Given the description of an element on the screen output the (x, y) to click on. 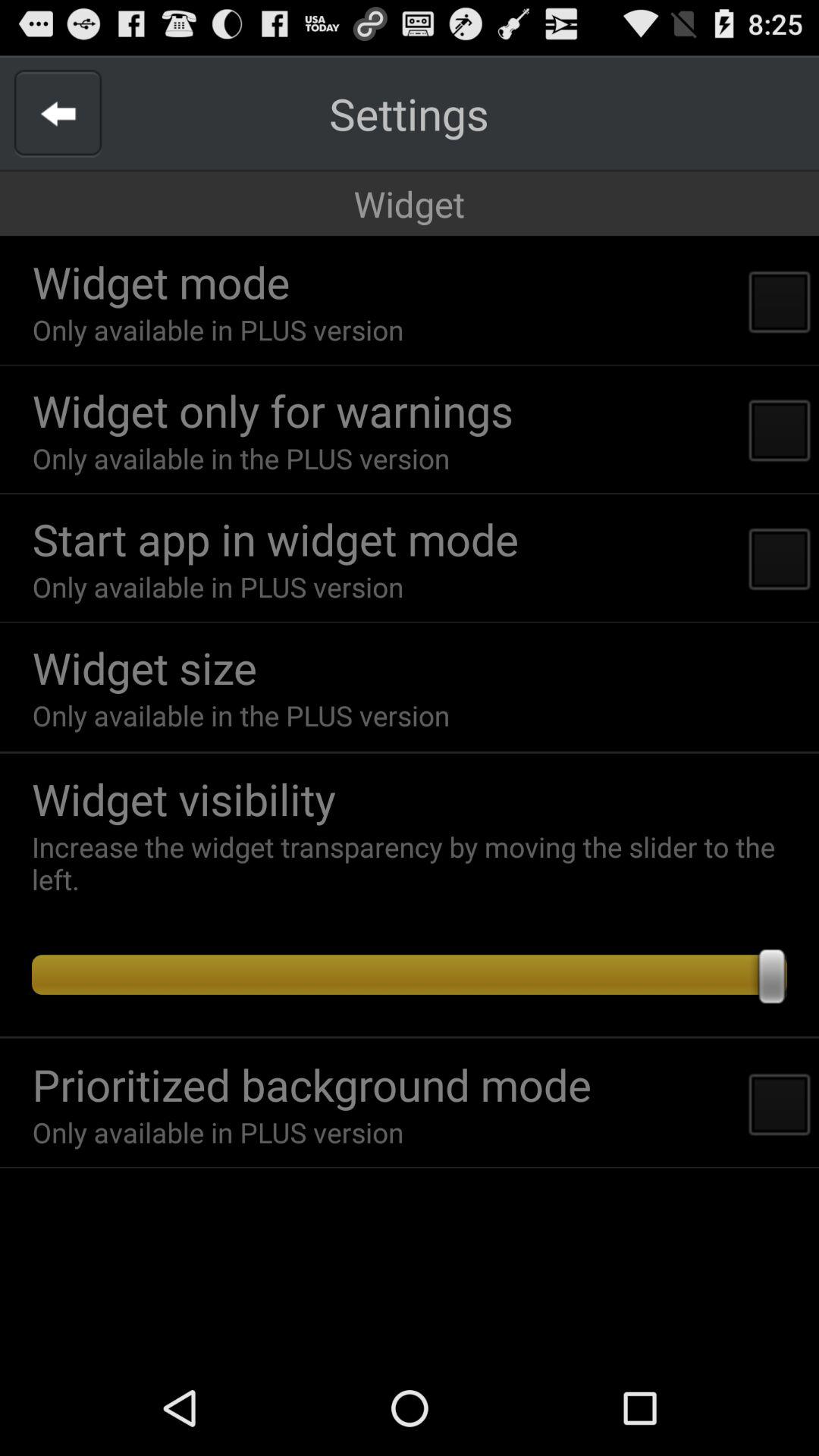
turn on the app to the left of settings icon (57, 113)
